Given the description of an element on the screen output the (x, y) to click on. 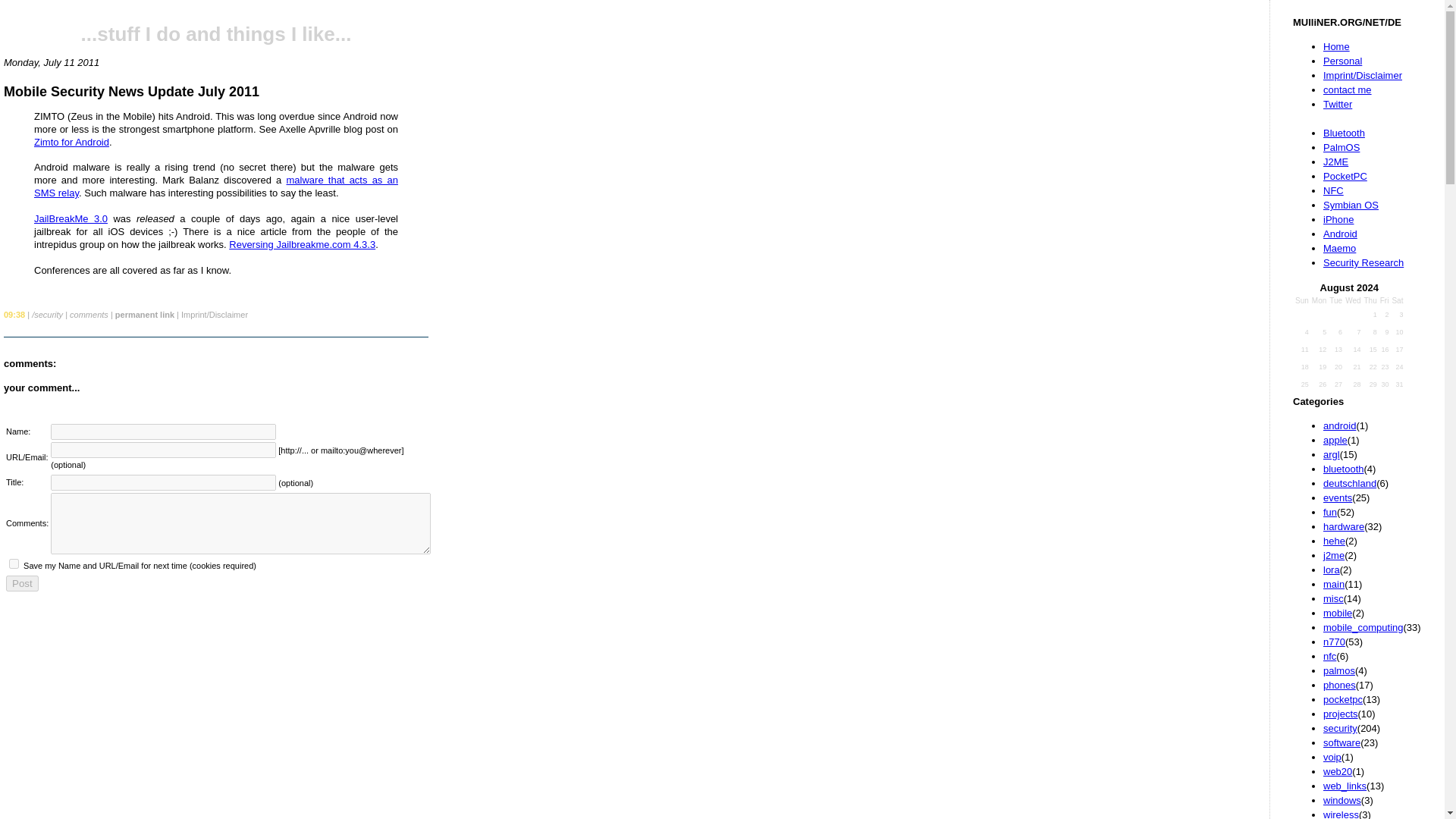
bluetooth (1343, 469)
NFC (1333, 190)
j2me (1333, 555)
software (1341, 742)
misc (1333, 598)
apple (1335, 439)
web20 (1337, 771)
phones (1339, 685)
contact me (1347, 89)
android (1339, 425)
